Given the description of an element on the screen output the (x, y) to click on. 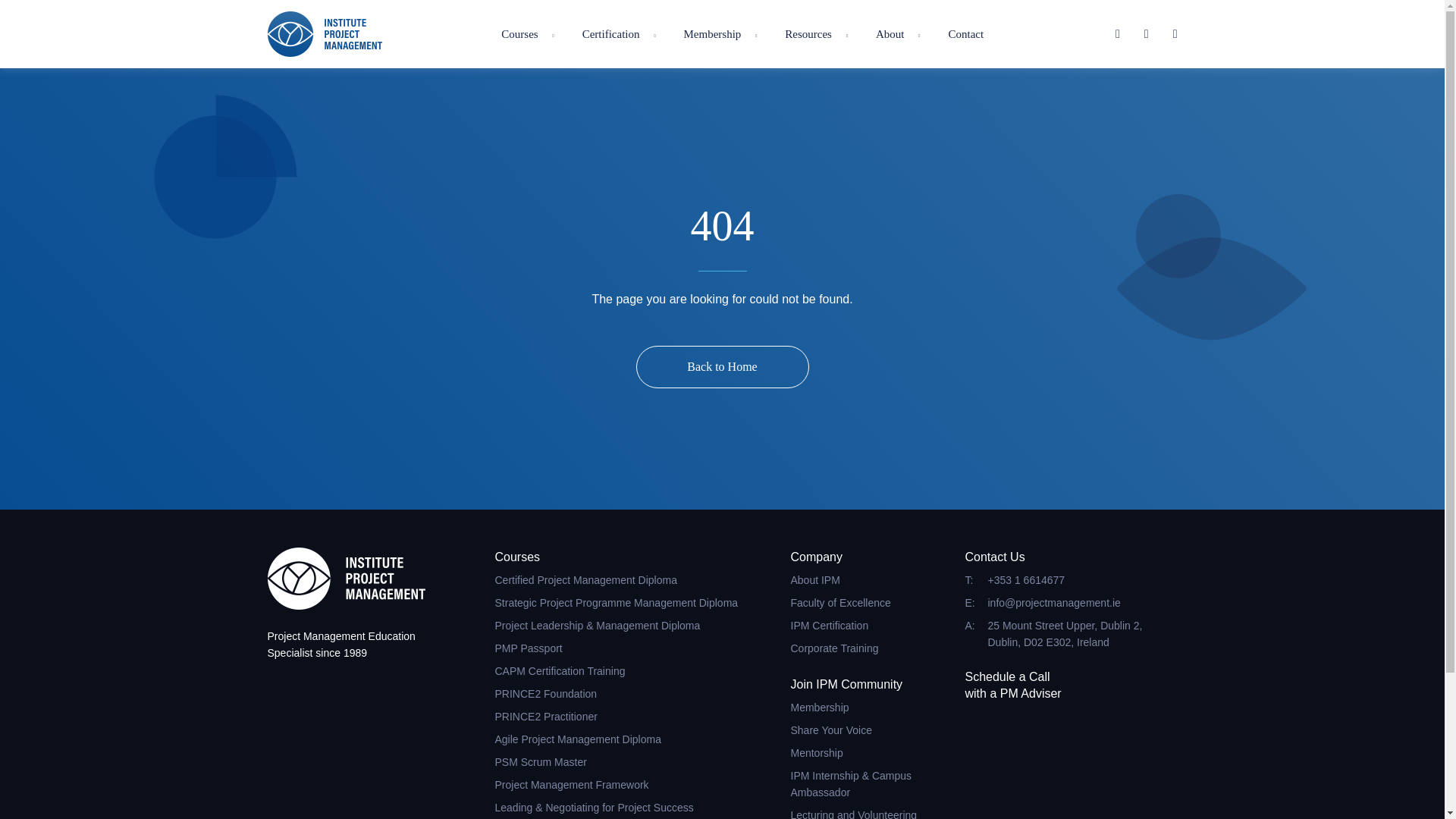
Contact (965, 34)
Membership (711, 34)
Download Brochure (925, 430)
About (890, 34)
Resources (808, 34)
Certification (611, 34)
Courses (519, 34)
logo (323, 33)
Back to Home (721, 366)
